Given the description of an element on the screen output the (x, y) to click on. 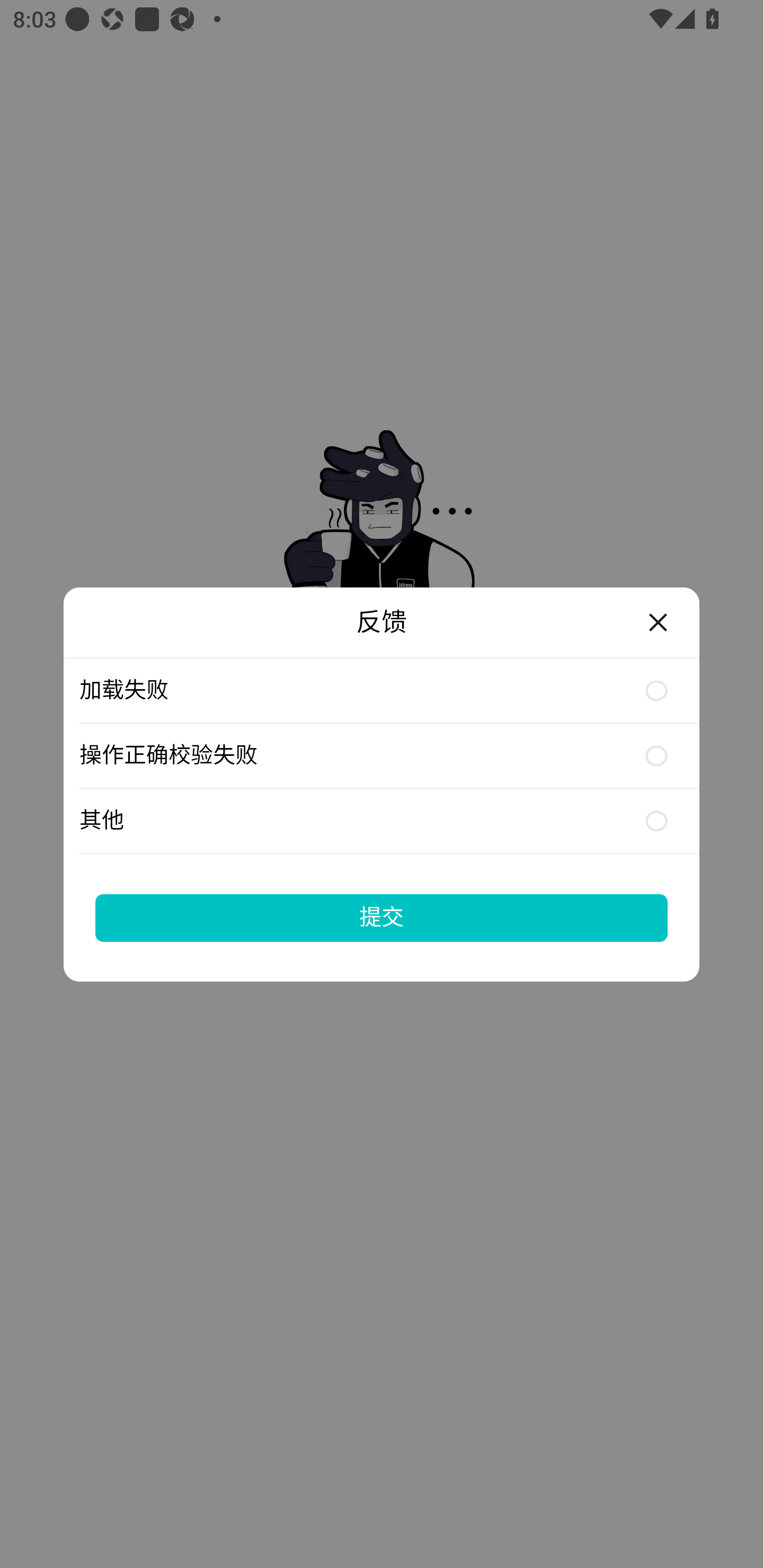
提交 (381, 917)
